Given the description of an element on the screen output the (x, y) to click on. 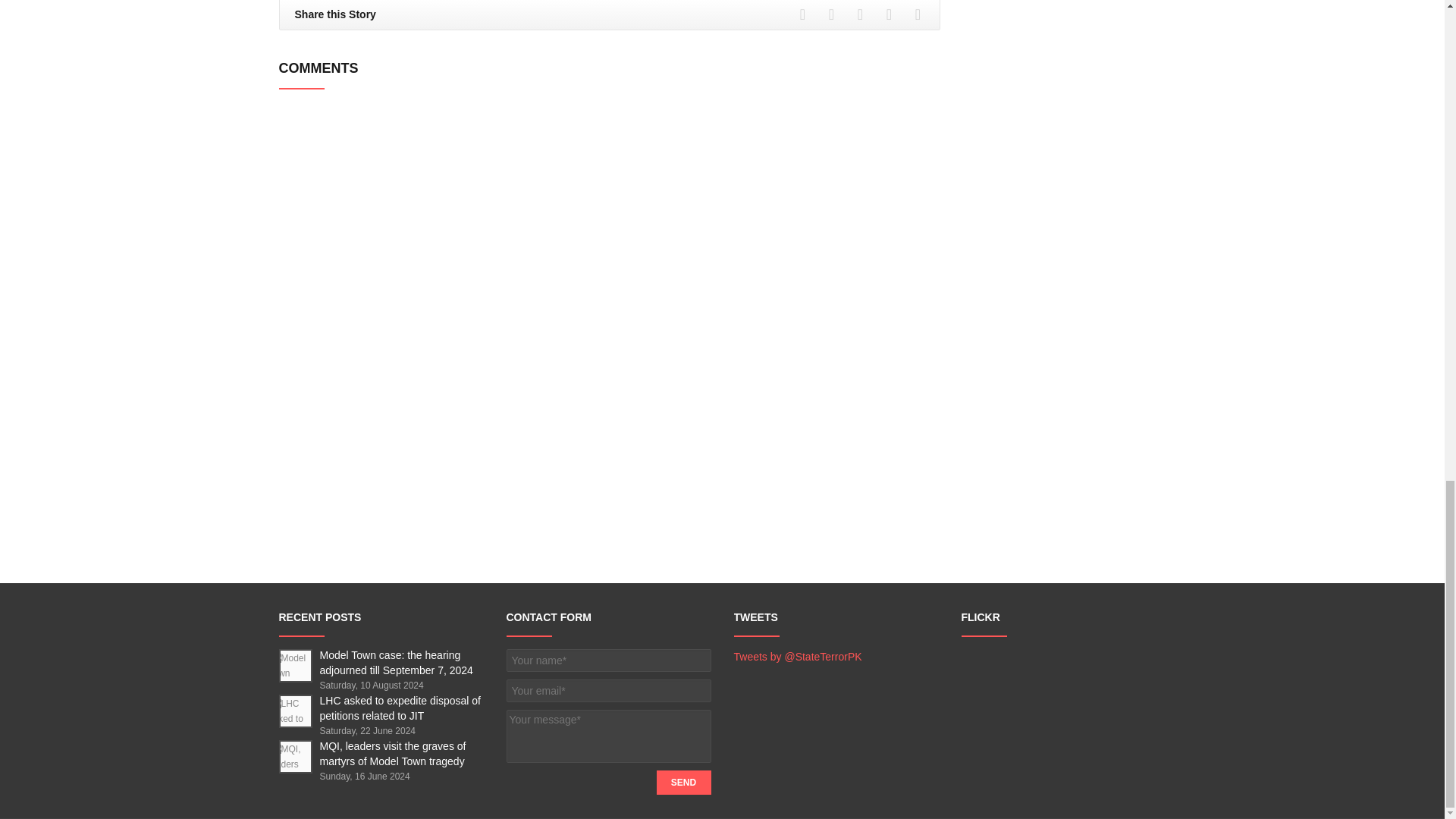
LHC asked to expedite disposal of petitions related to JIT (400, 707)
